Given the description of an element on the screen output the (x, y) to click on. 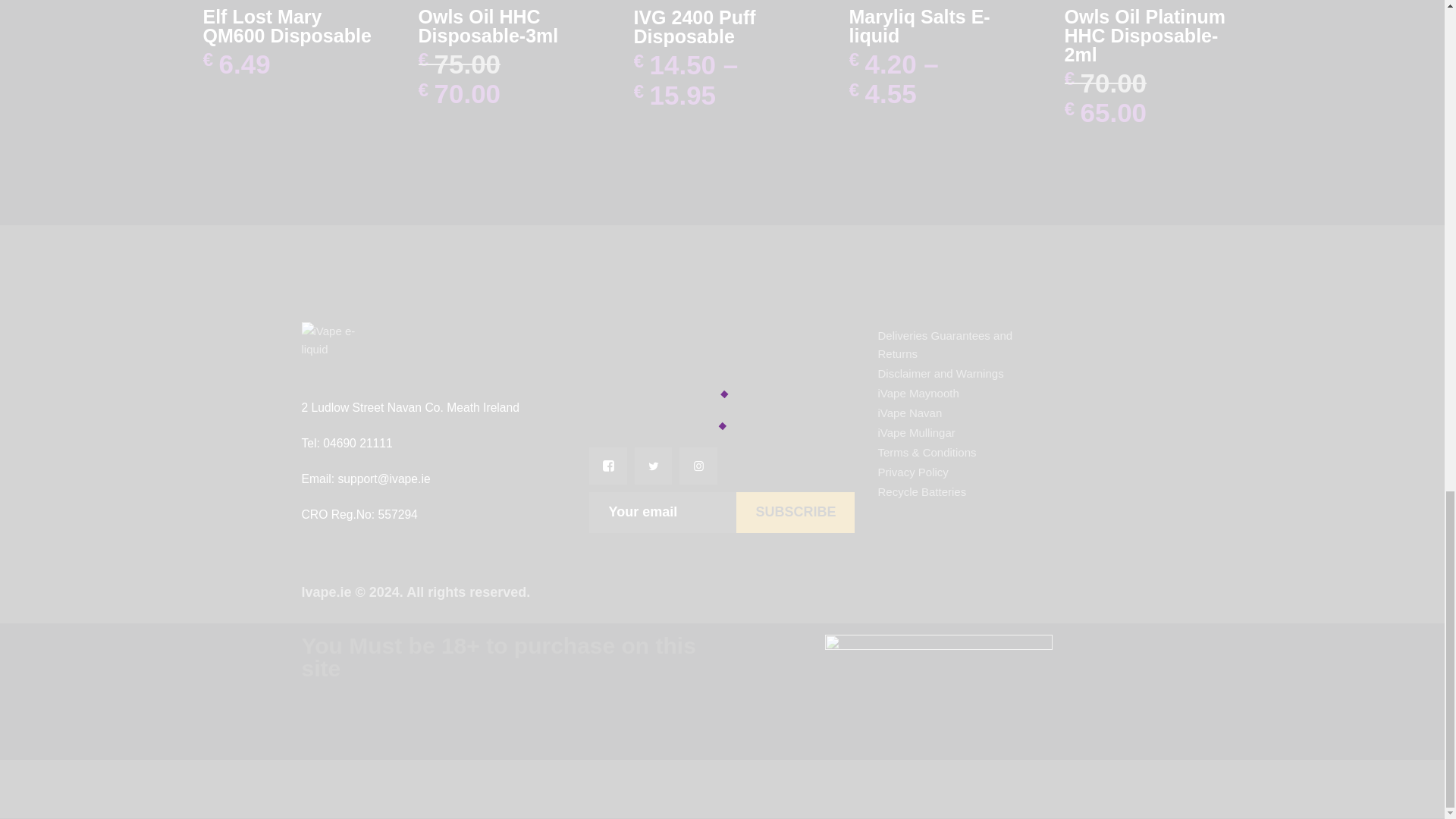
Recycle Batteries (921, 491)
subscribe (795, 512)
ivape navan co. meath (721, 382)
